Given the description of an element on the screen output the (x, y) to click on. 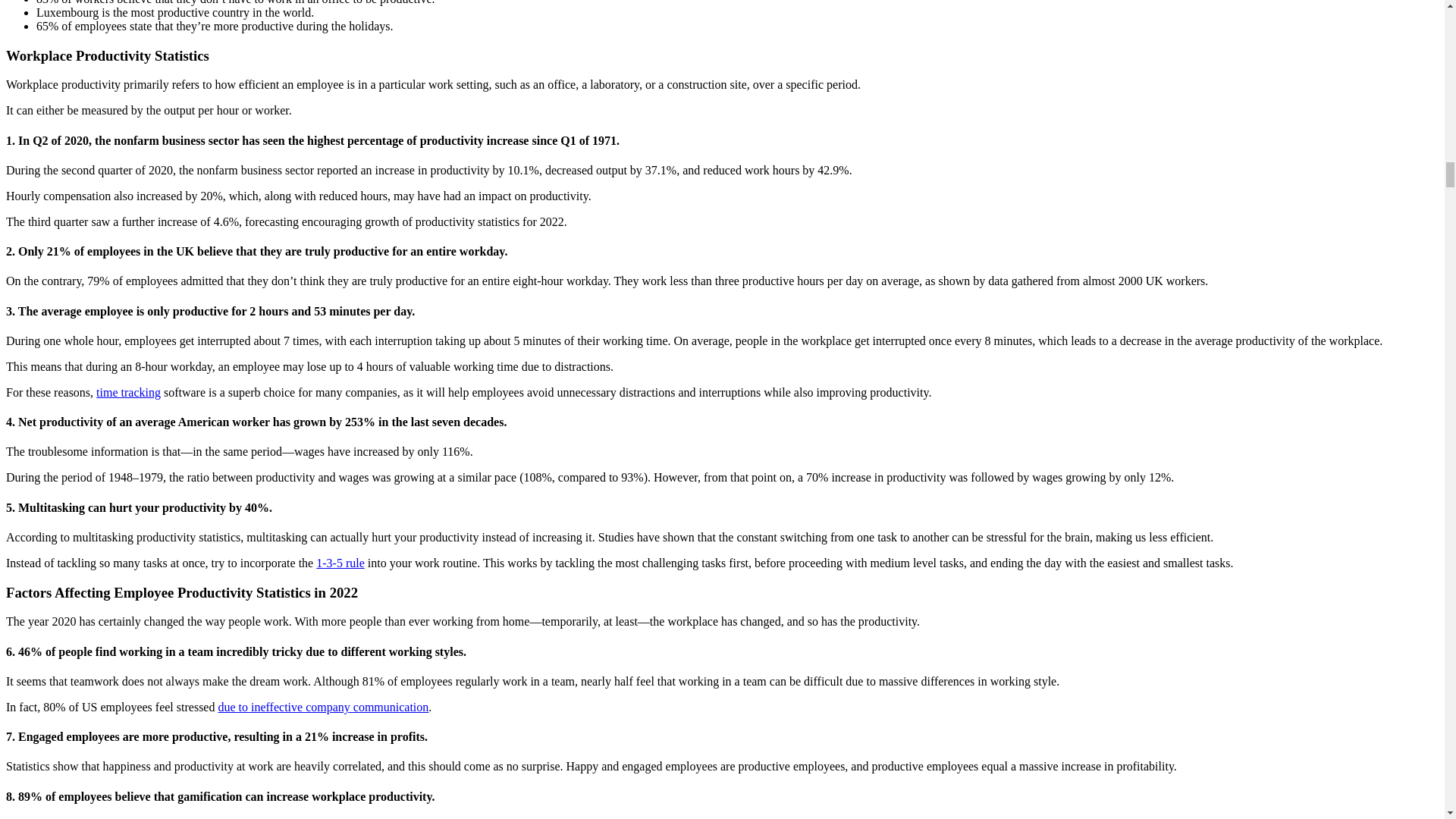
1-3-5 rule (340, 562)
due to ineffective company communication (322, 707)
time tracking (128, 391)
